Given the description of an element on the screen output the (x, y) to click on. 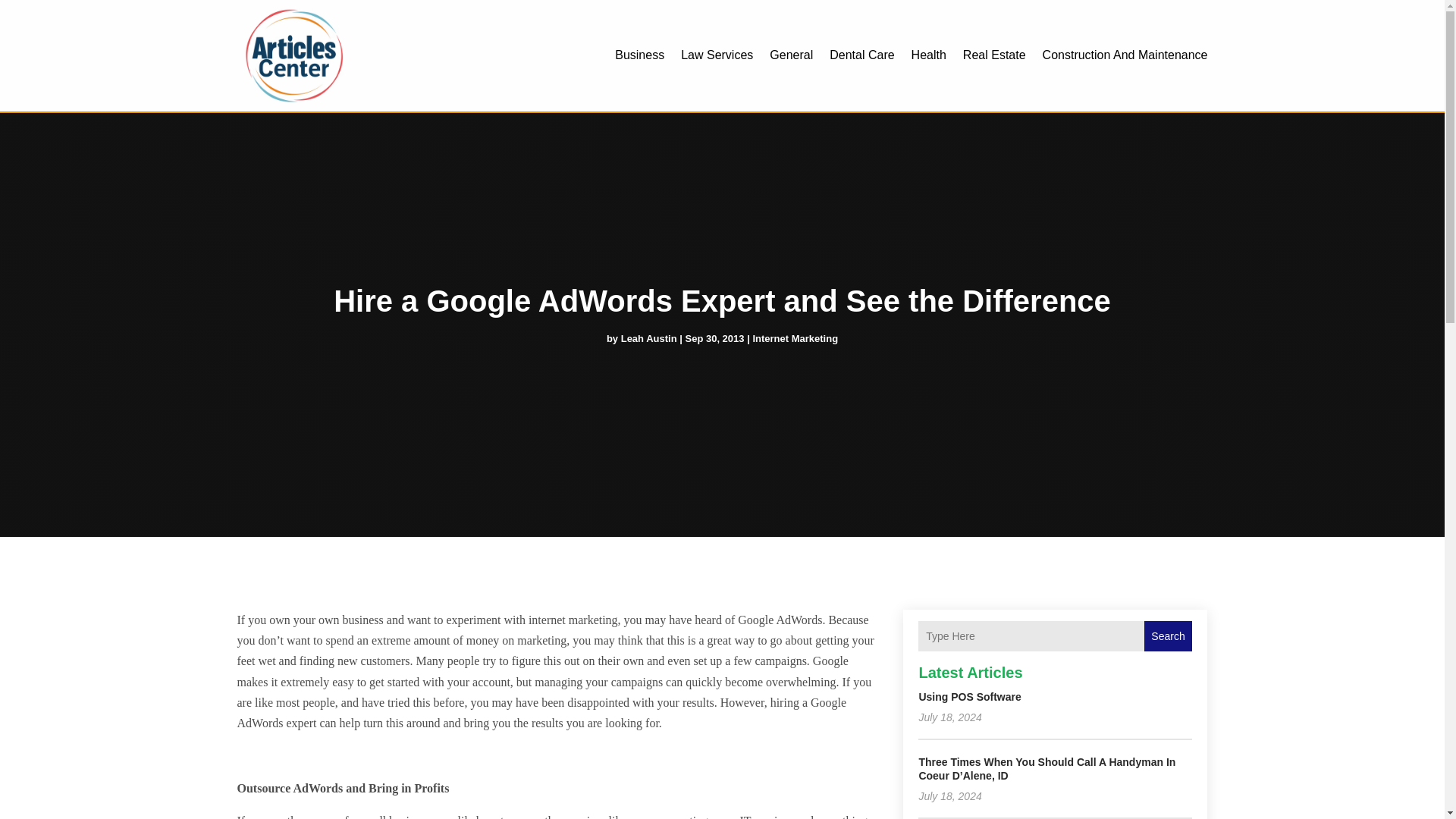
Internet Marketing (795, 337)
Leah Austin (649, 337)
Search (1168, 635)
Construction And Maintenance (1125, 55)
Using POS Software (969, 696)
Posts by Leah Austin (649, 337)
